Given the description of an element on the screen output the (x, y) to click on. 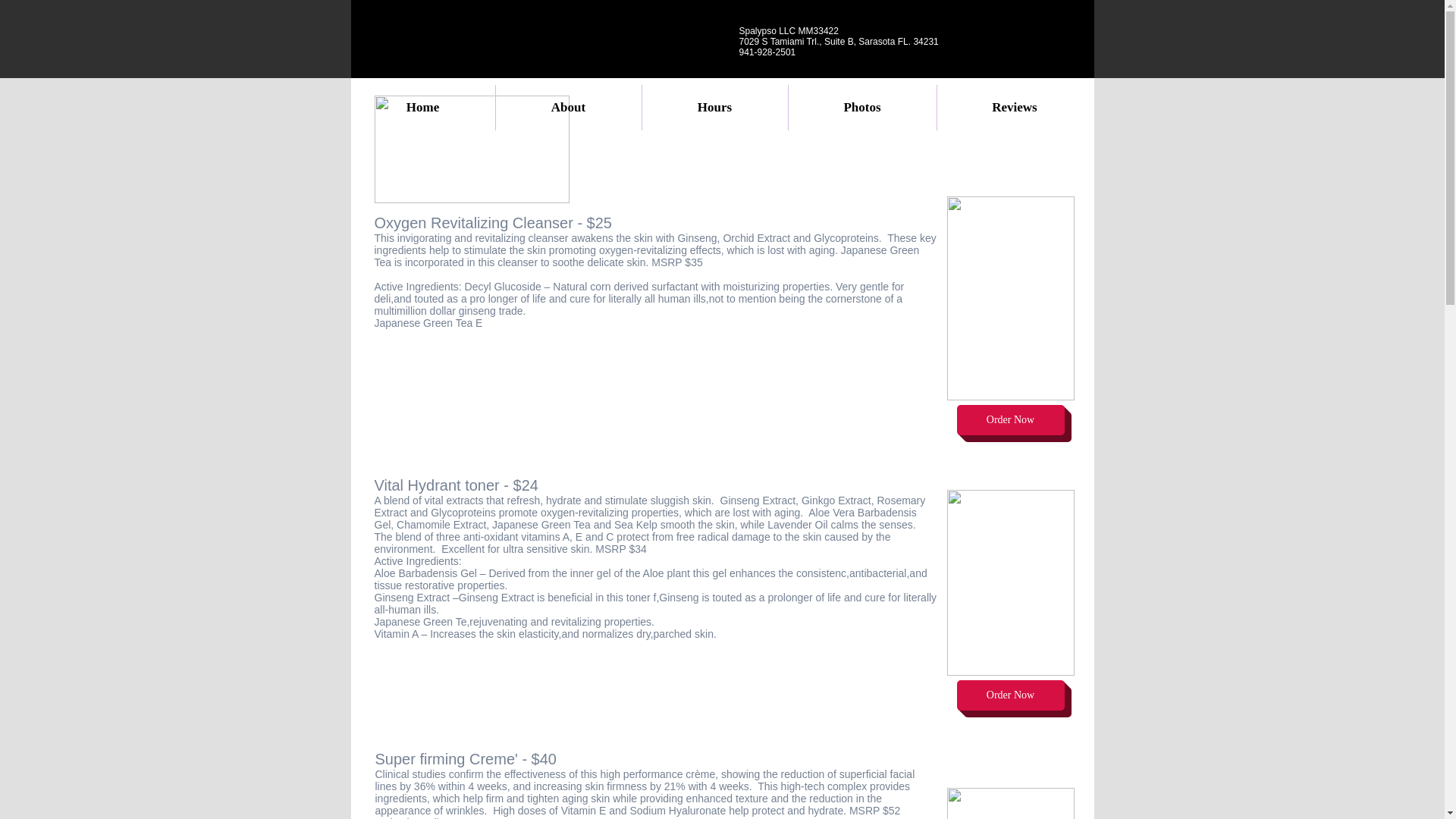
Order Now (1010, 695)
Hours (714, 107)
About (569, 107)
Photos (862, 107)
Home (422, 107)
Reviews (1015, 107)
Order Now (1010, 419)
